Given the description of an element on the screen output the (x, y) to click on. 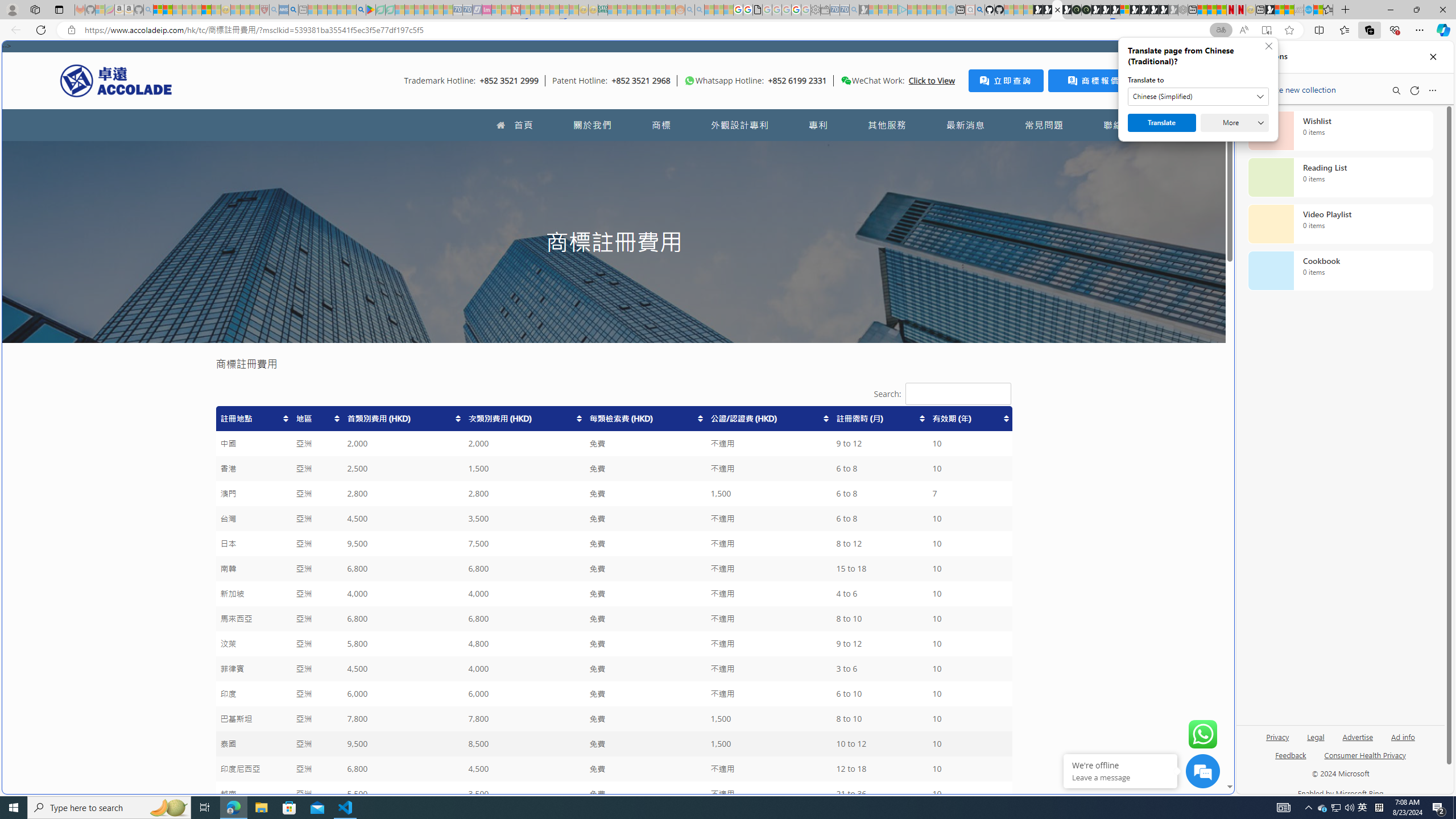
World - MSN (1279, 9)
2,000 (524, 443)
Sign in to your account (1124, 9)
8 to 12 (879, 543)
Play Free Online Games | Games from Microsoft Start (1144, 9)
10 to 12 (879, 743)
